Given the description of an element on the screen output the (x, y) to click on. 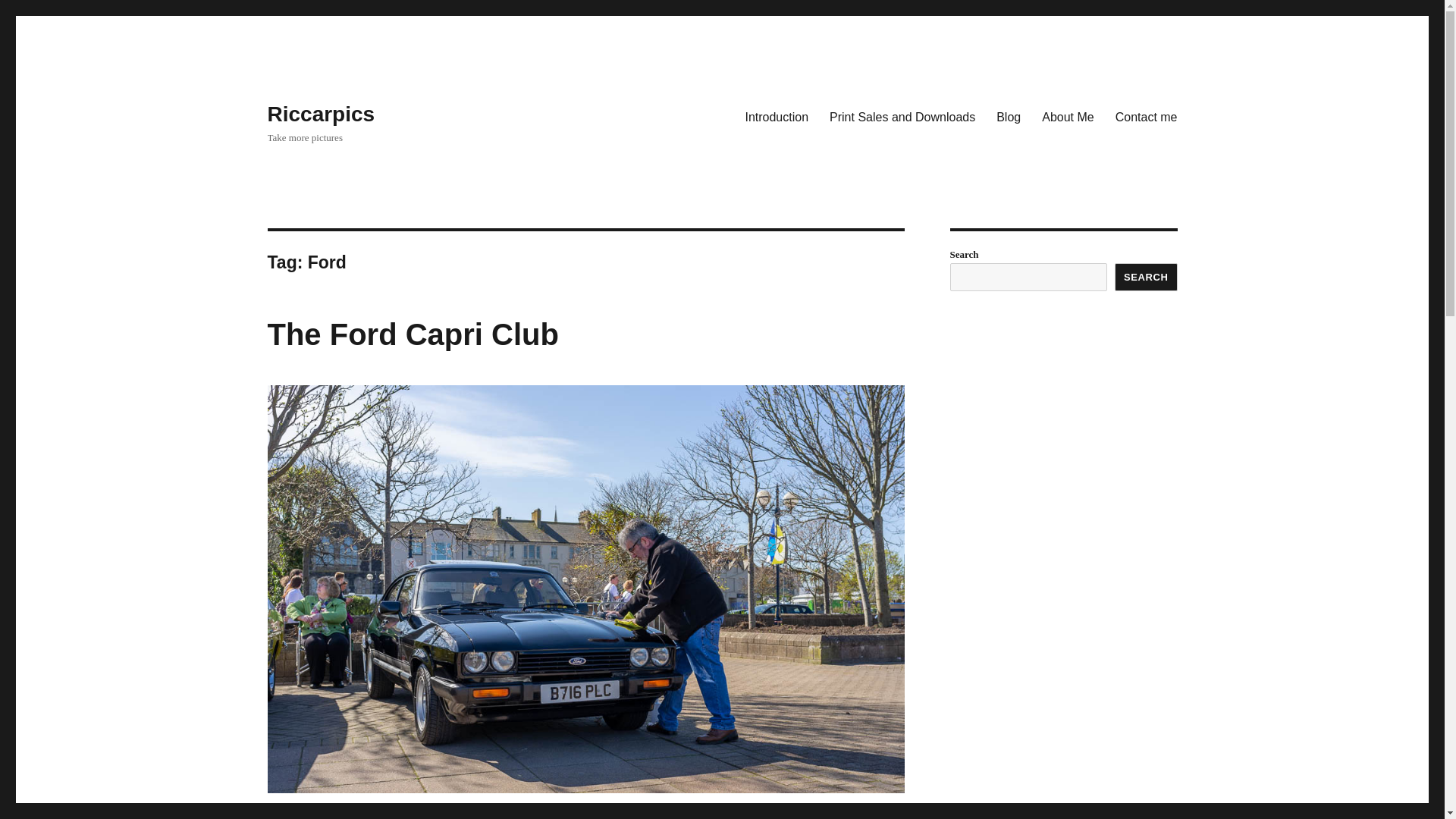
Print Sales and Downloads (901, 116)
Riccarpics (320, 114)
The Ford Capri Club (411, 334)
SEARCH (1146, 276)
About Me (1066, 116)
Introduction (775, 116)
Blog (1007, 116)
Contact me (1146, 116)
